Given the description of an element on the screen output the (x, y) to click on. 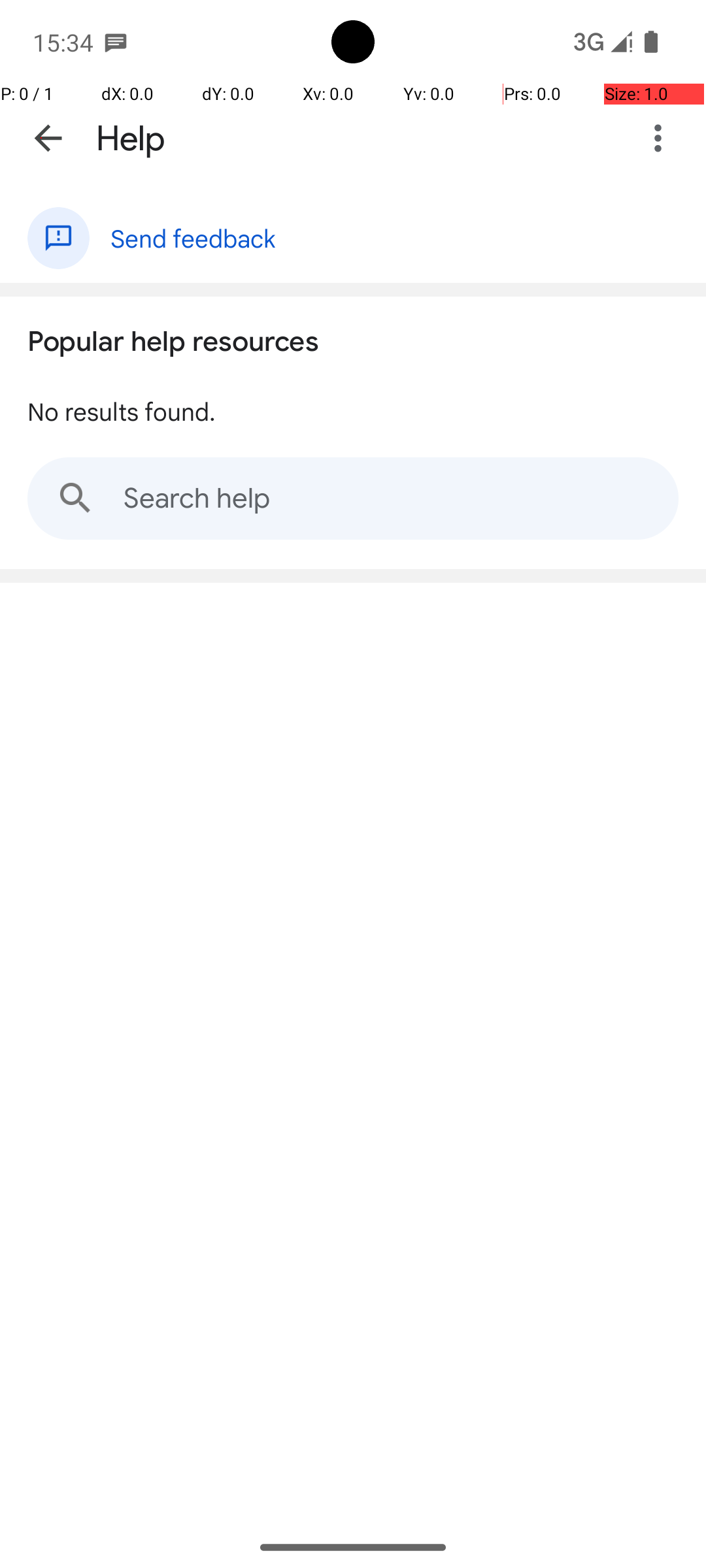
Popular help resources Element type: android.widget.TextView (173, 338)
Search help Element type: androidx.cardview.widget.CardView (352, 498)
No results found. Element type: android.widget.TextView (121, 410)
